Given the description of an element on the screen output the (x, y) to click on. 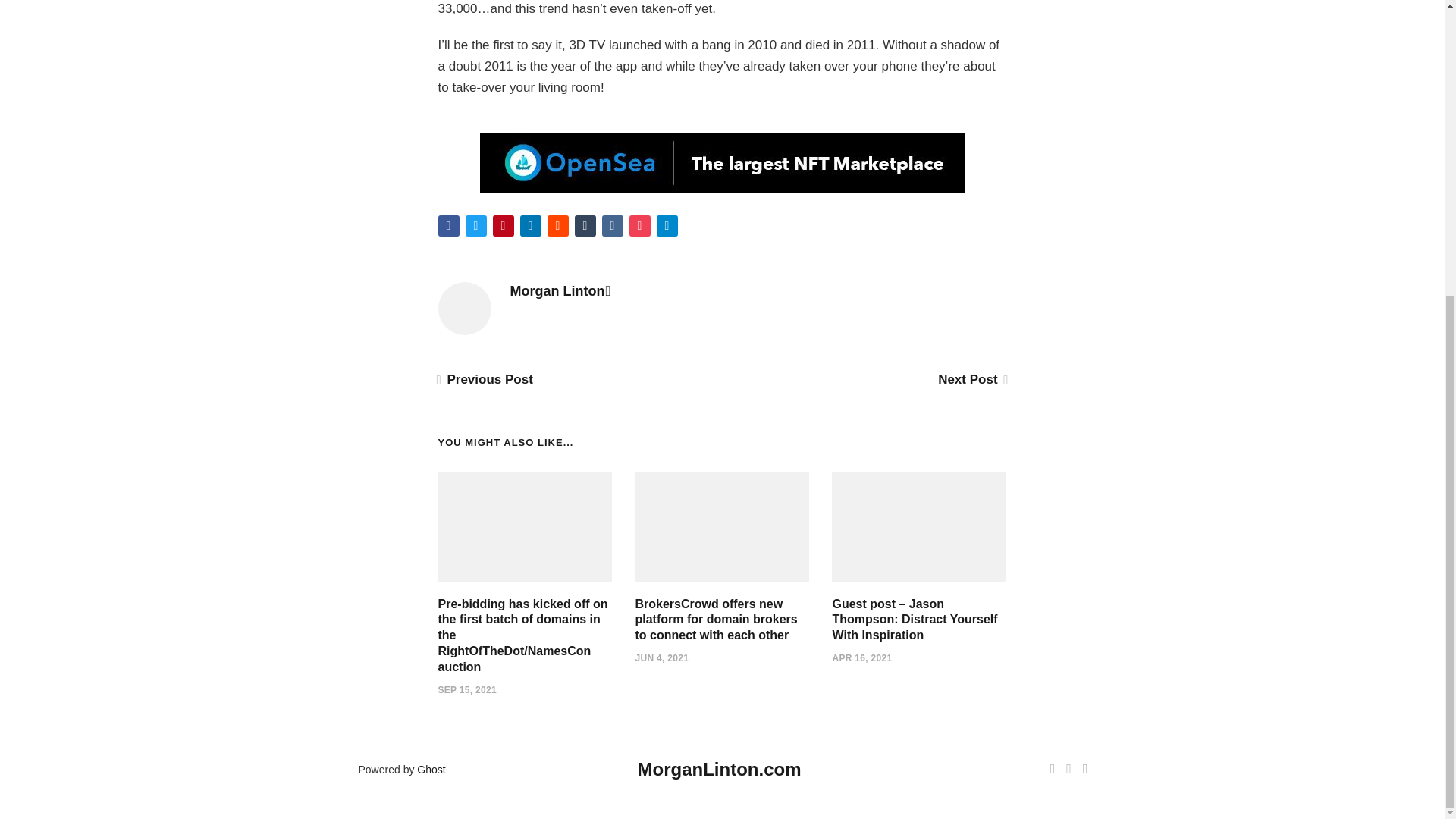
Previous Post (485, 379)
Next Post (971, 379)
